Given the description of an element on the screen output the (x, y) to click on. 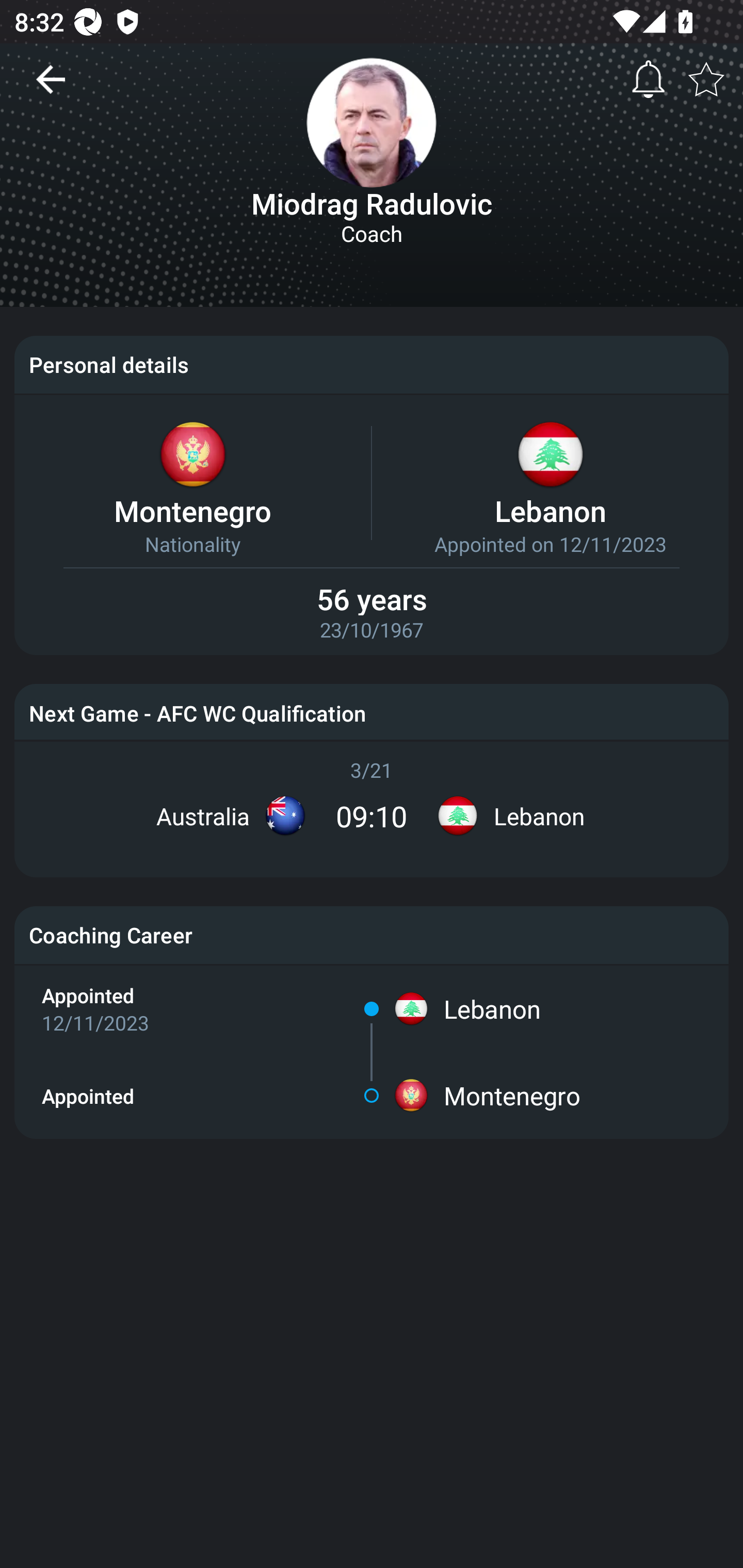
Navigate up (50, 86)
Personal details (371, 364)
3/21 Australia 09:10 Lebanon (371, 801)
Coaching Career (371, 935)
Lebanon (491, 1008)
Montenegro (511, 1095)
